Given the description of an element on the screen output the (x, y) to click on. 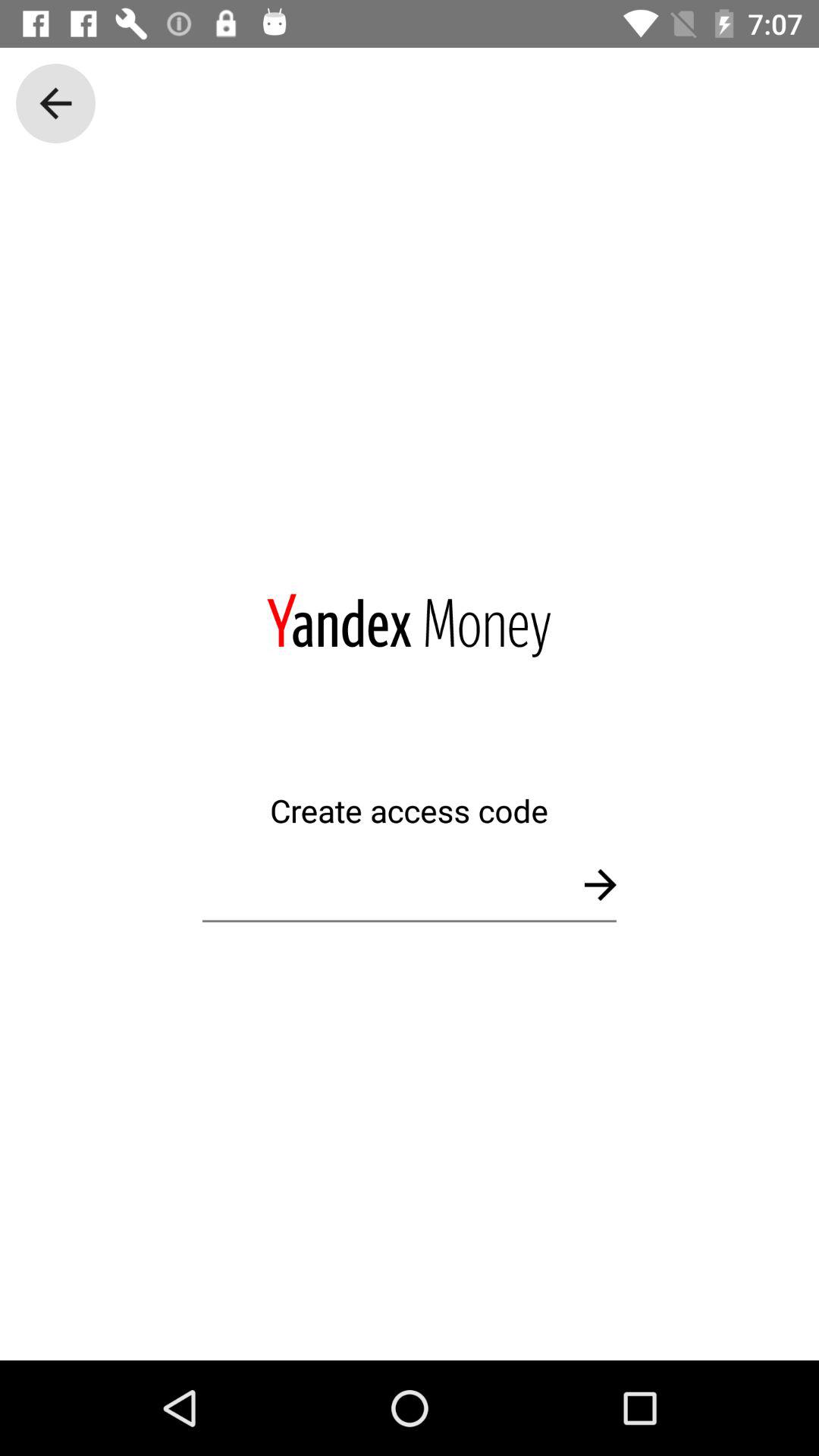
open icon at the top left corner (55, 103)
